Given the description of an element on the screen output the (x, y) to click on. 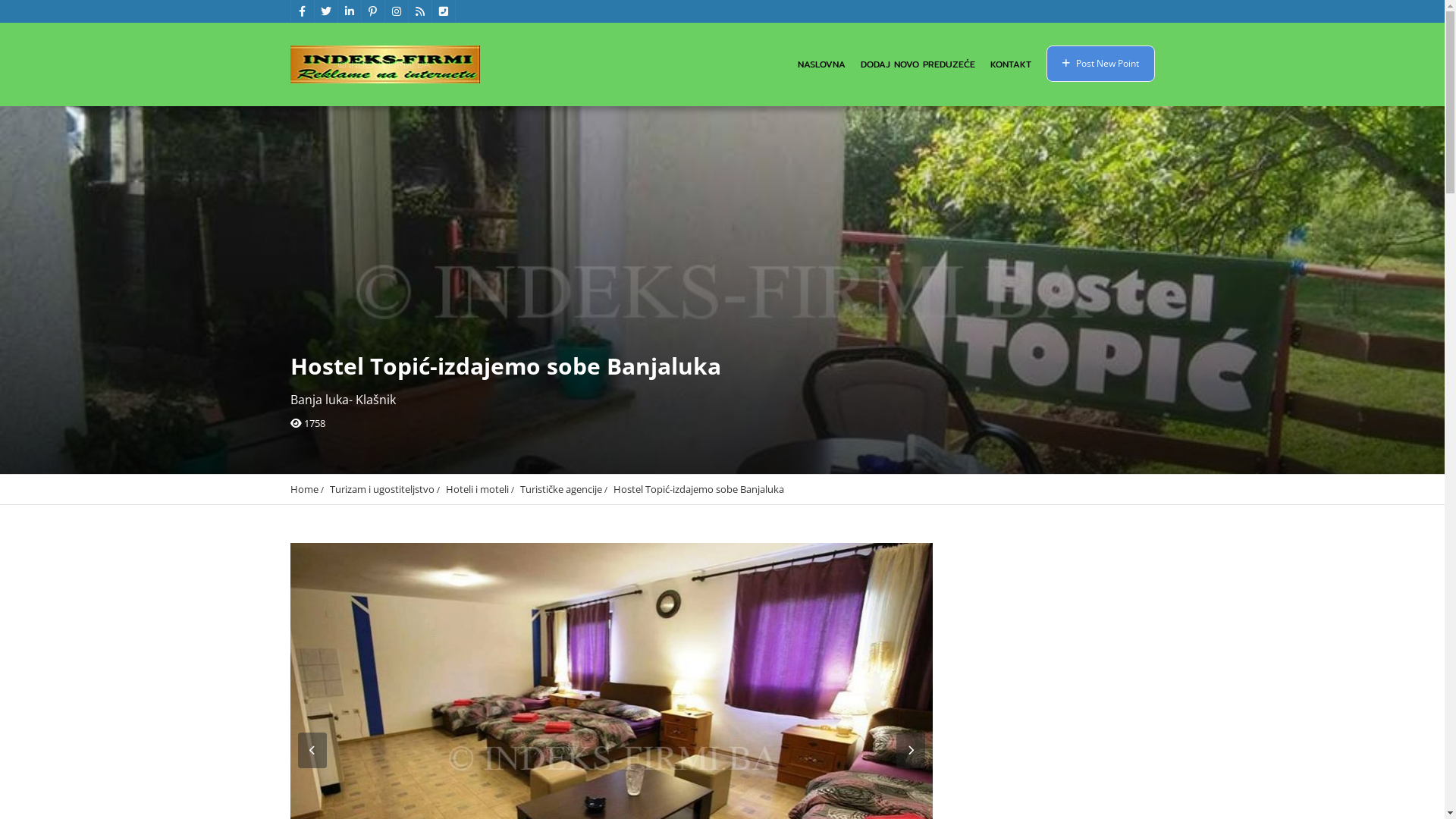
Hoteli i moteli Element type: text (476, 488)
Turizam i ugostiteljstvo Element type: text (381, 488)
Post New Point Element type: text (1100, 63)
NASLOVNA Element type: text (821, 64)
KONTAKT Element type: text (1010, 64)
Home Element type: text (303, 488)
